Given the description of an element on the screen output the (x, y) to click on. 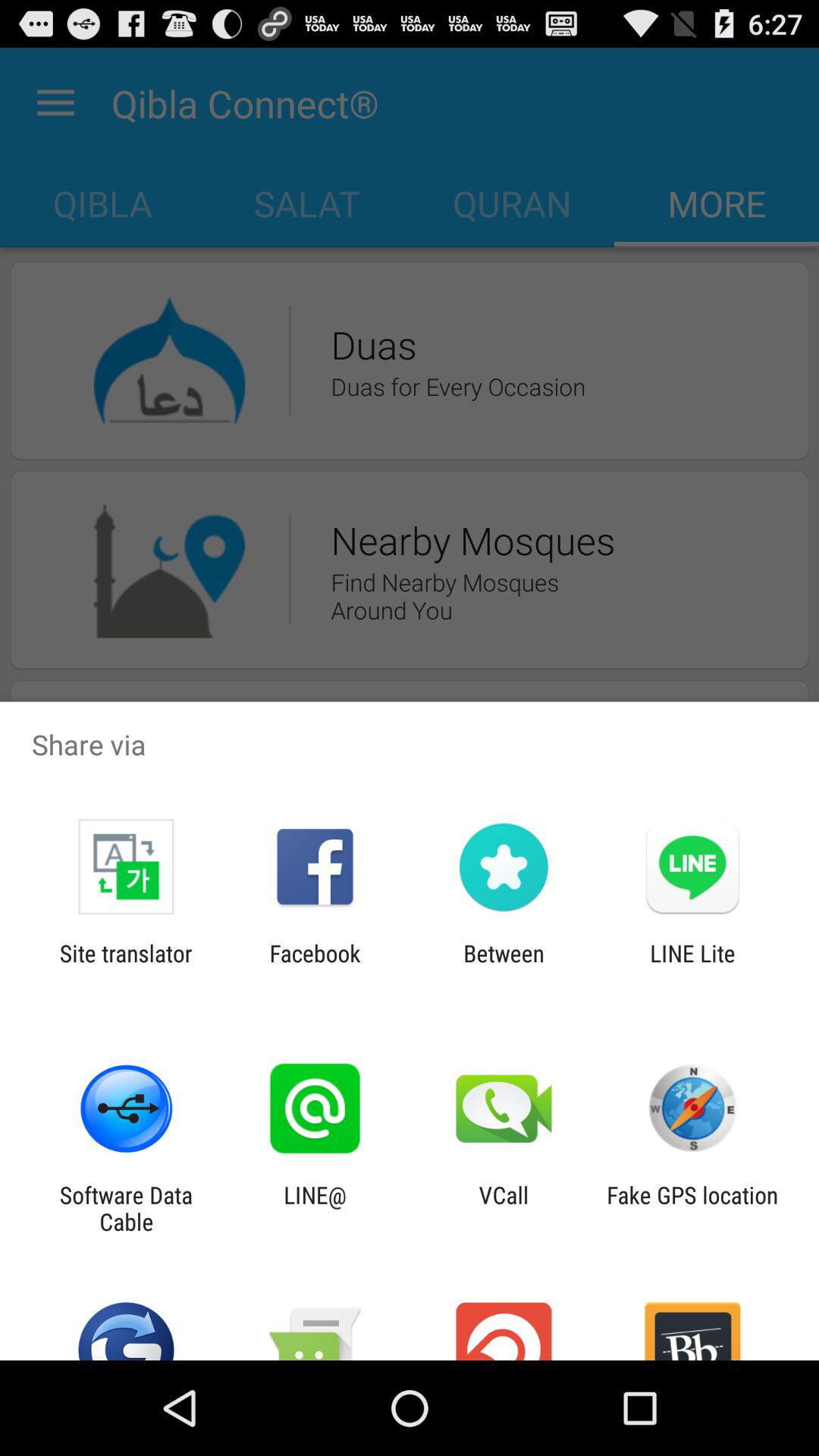
click icon to the left of fake gps location app (503, 1208)
